Given the description of an element on the screen output the (x, y) to click on. 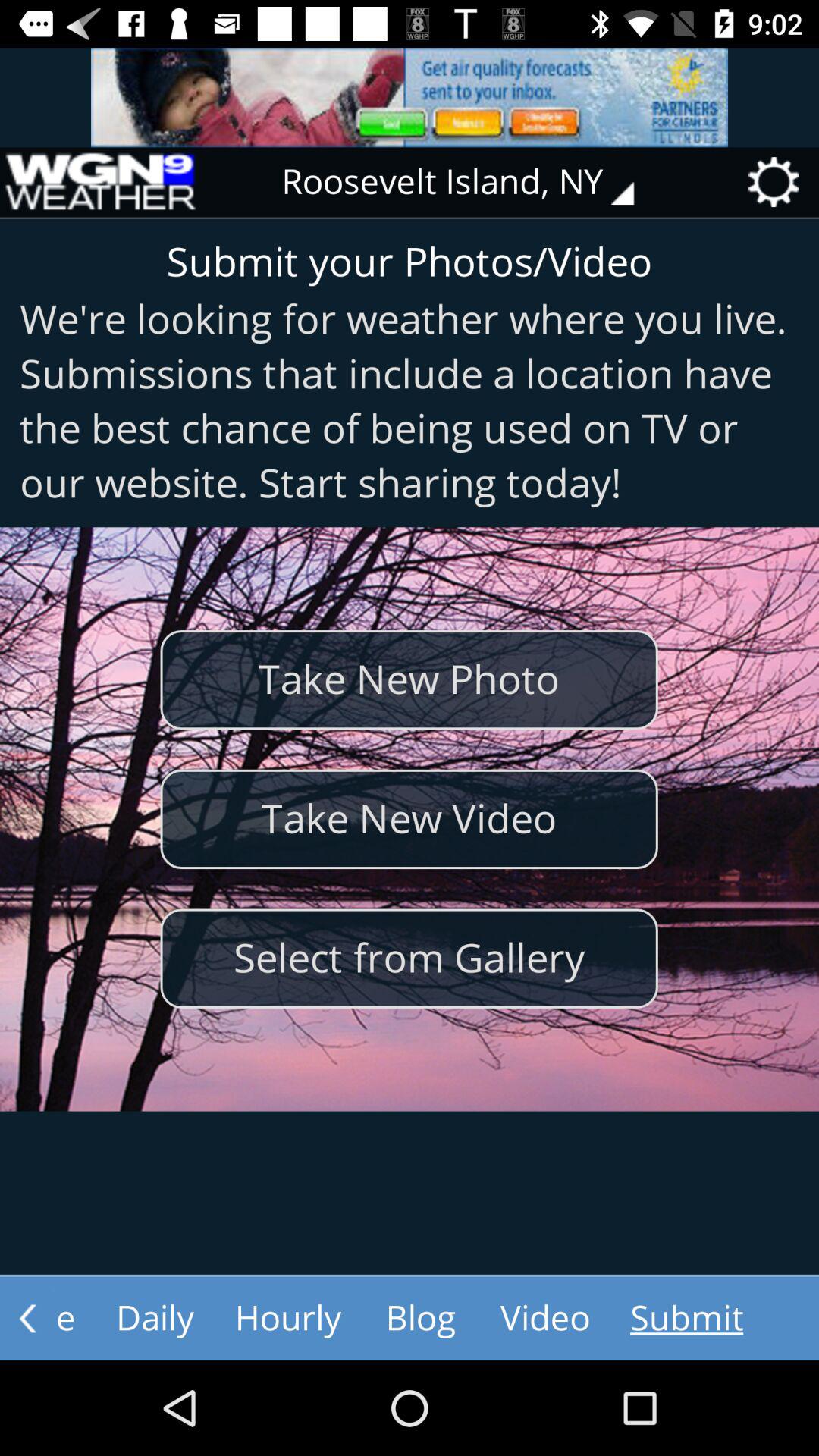
go to previous (27, 1318)
